Given the description of an element on the screen output the (x, y) to click on. 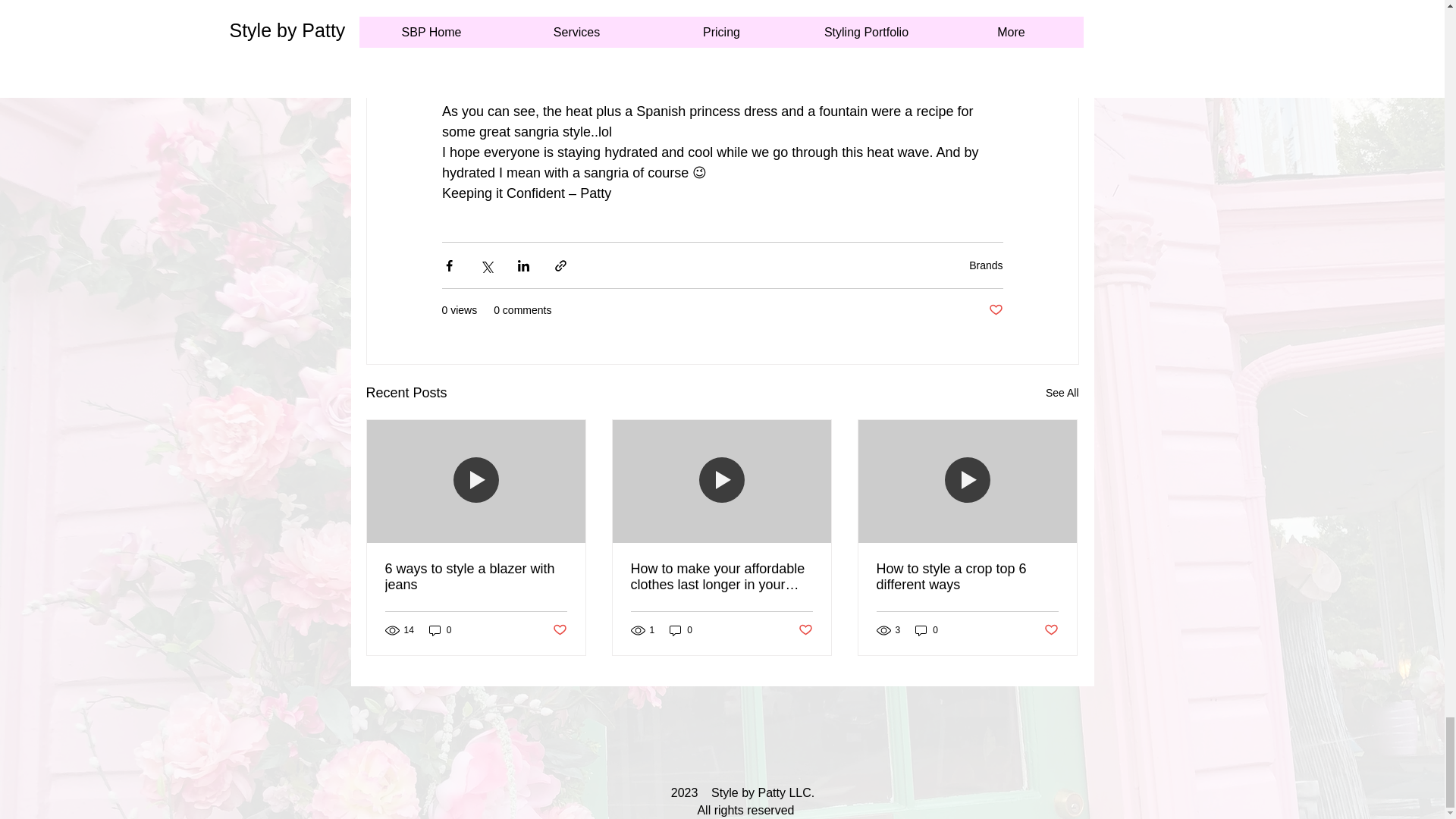
0 (681, 630)
Post not marked as liked (804, 630)
Post not marked as liked (558, 630)
0 (440, 630)
6 ways to style a blazer with jeans (476, 576)
Post not marked as liked (995, 310)
Payless (759, 49)
Pink Sugar XO (794, 29)
See All (1061, 393)
Brands (986, 265)
